Given the description of an element on the screen output the (x, y) to click on. 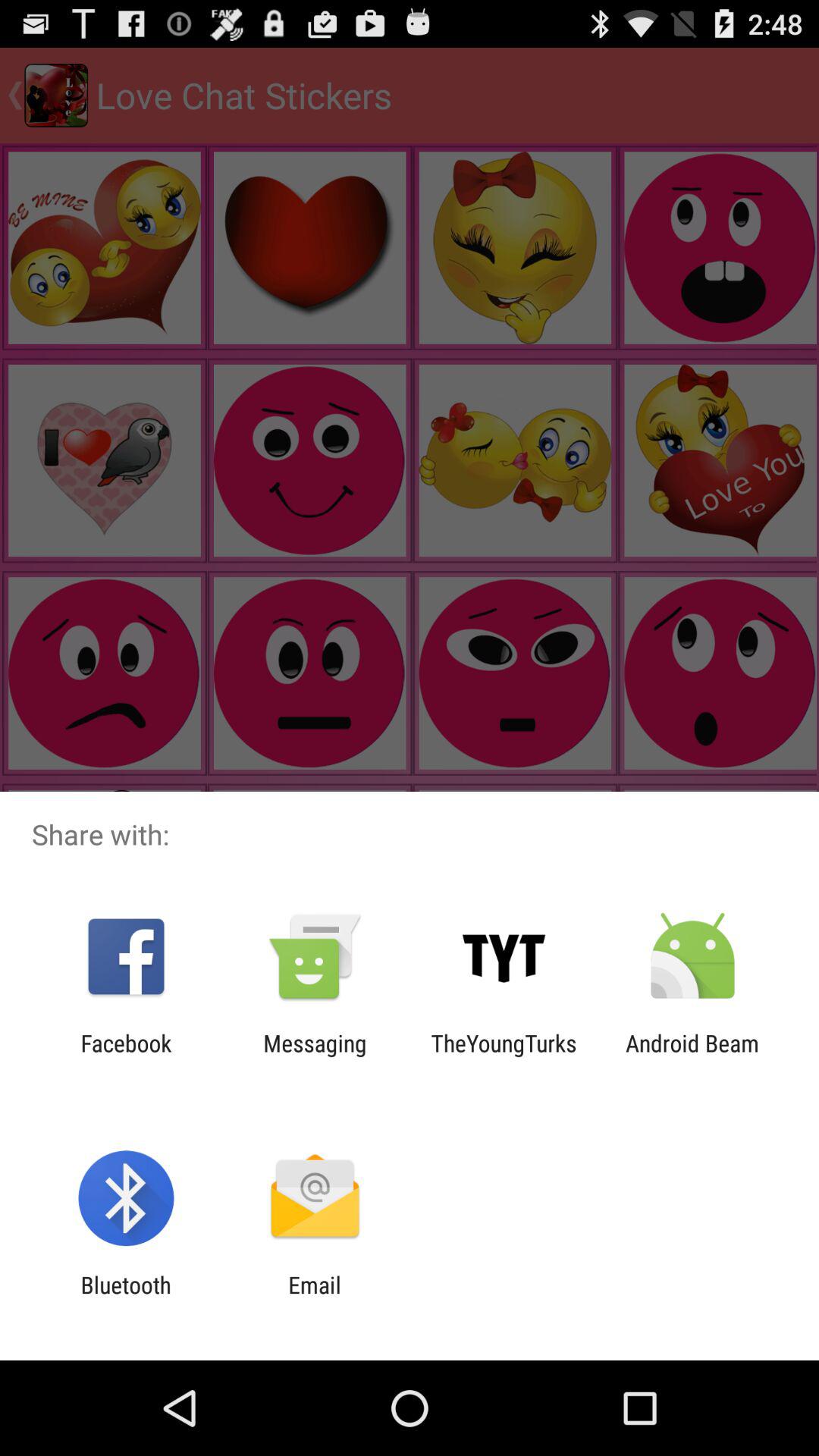
click the icon next to the facebook item (314, 1056)
